Given the description of an element on the screen output the (x, y) to click on. 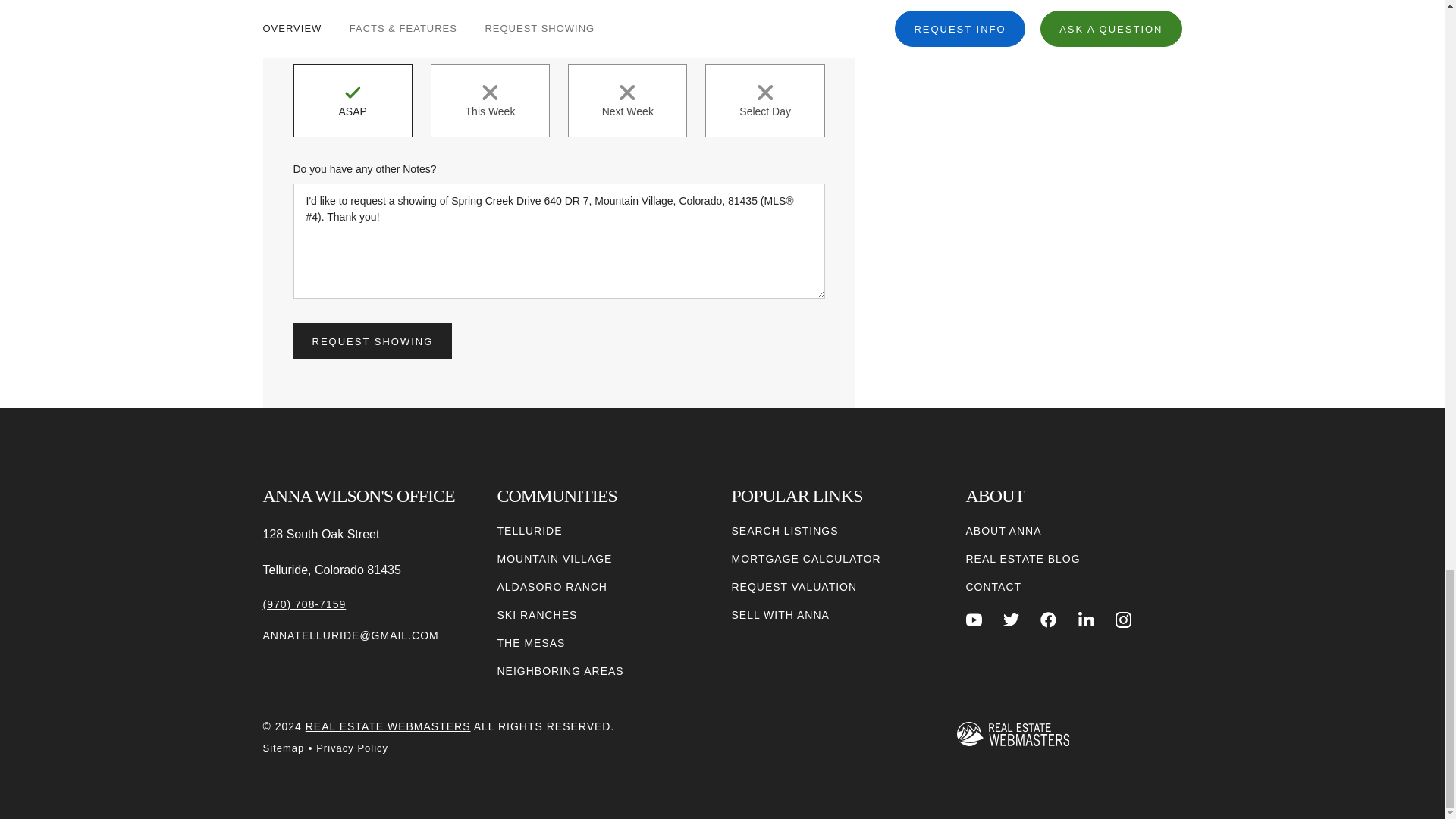
TWITTER (1011, 619)
Next Week (627, 100)
This Week (490, 100)
ASAP (352, 100)
LINKEDIN (1086, 619)
FACEBOOK (1049, 619)
YOUTUBE (973, 619)
